Given the description of an element on the screen output the (x, y) to click on. 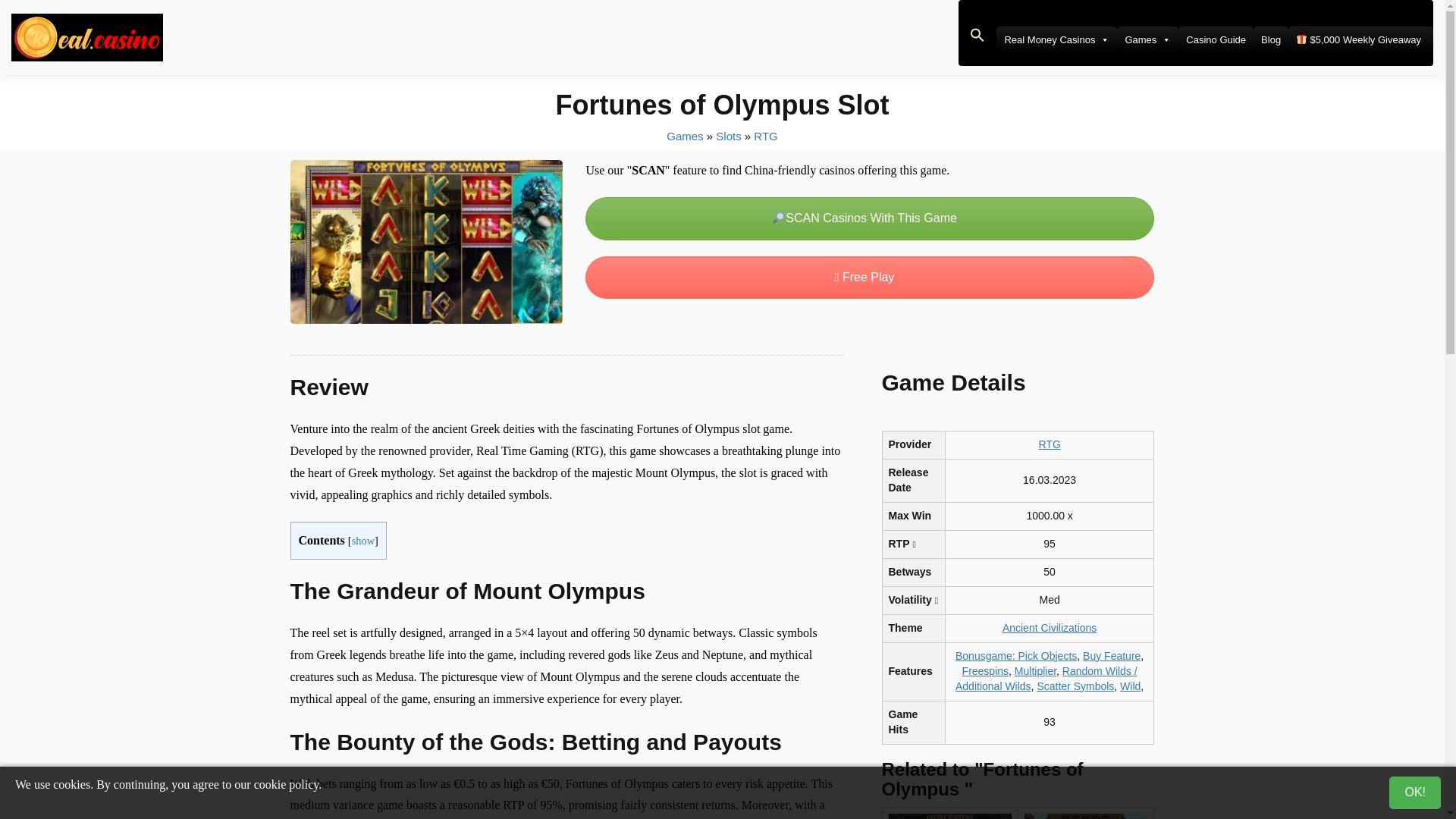
Real Money Casinos (1055, 39)
Online Casino Games (684, 135)
Games (1146, 39)
RTG Slots (765, 135)
Online Slots (728, 135)
